Given the description of an element on the screen output the (x, y) to click on. 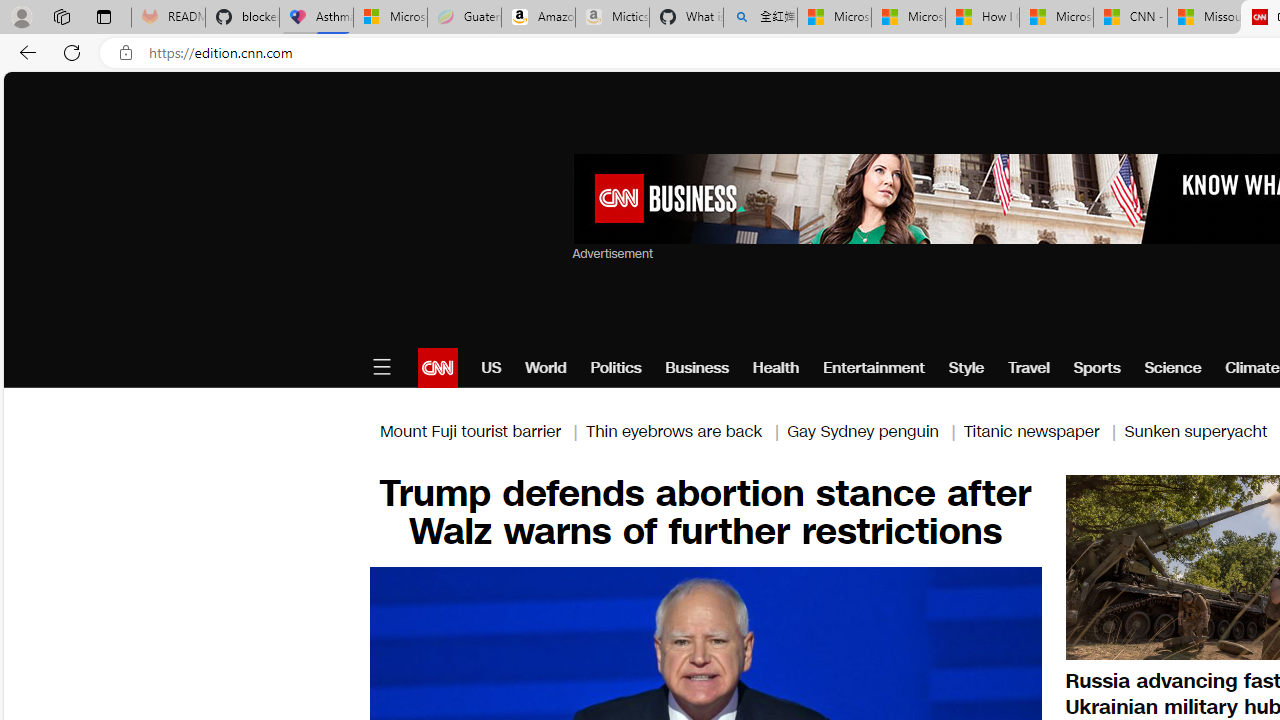
Style (966, 367)
Entertainment (874, 367)
